Given the description of an element on the screen output the (x, y) to click on. 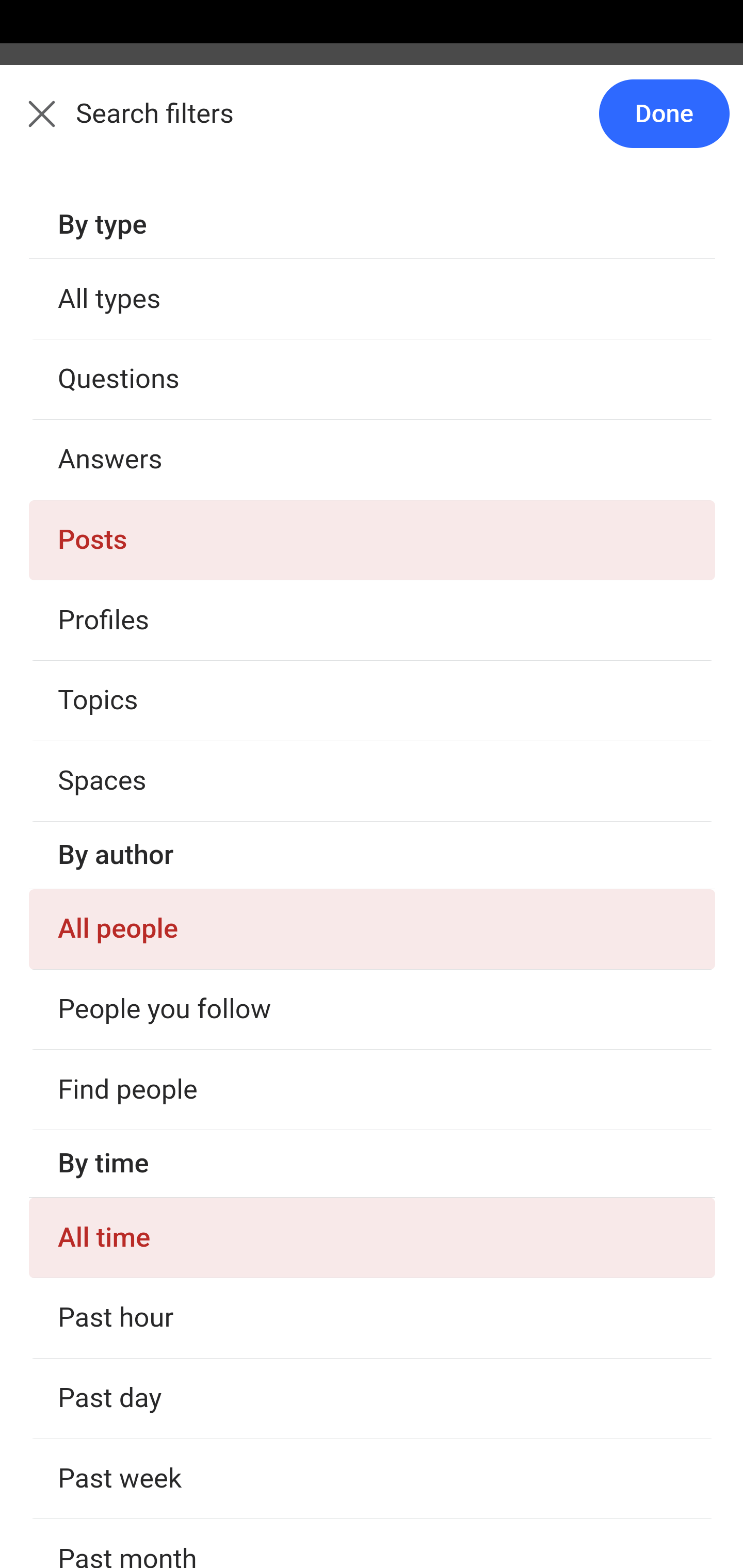
Back Search (371, 125)
Back (30, 125)
What is the best way to learn JavaScript? (372, 464)
Answer (125, 769)
How do I become better at JavaScript? (372, 1098)
Answer (125, 1403)
